Given the description of an element on the screen output the (x, y) to click on. 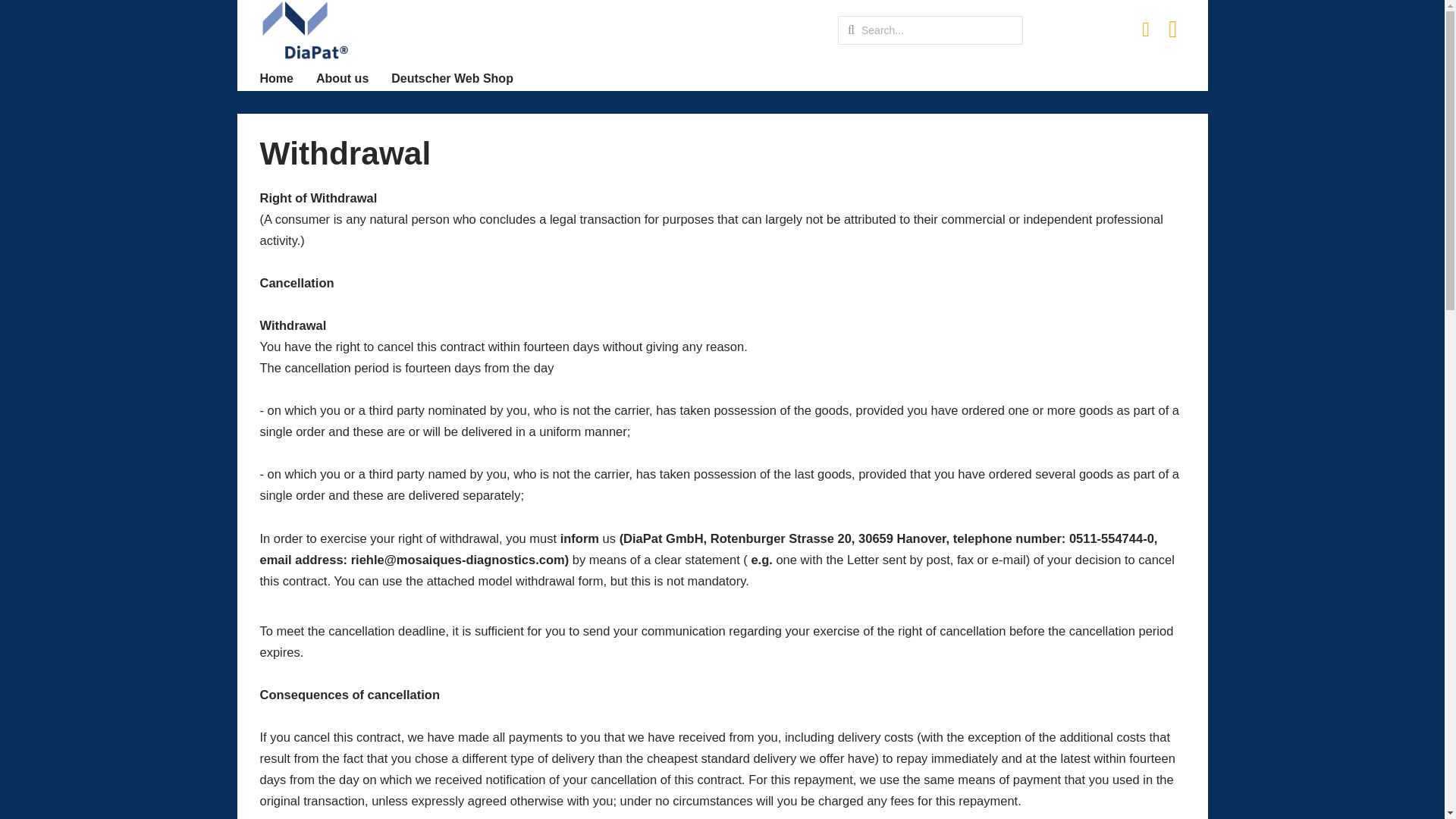
DiaPat GmbH (304, 29)
About us (341, 78)
Home (275, 78)
Deutscher Web Shop (452, 78)
